Given the description of an element on the screen output the (x, y) to click on. 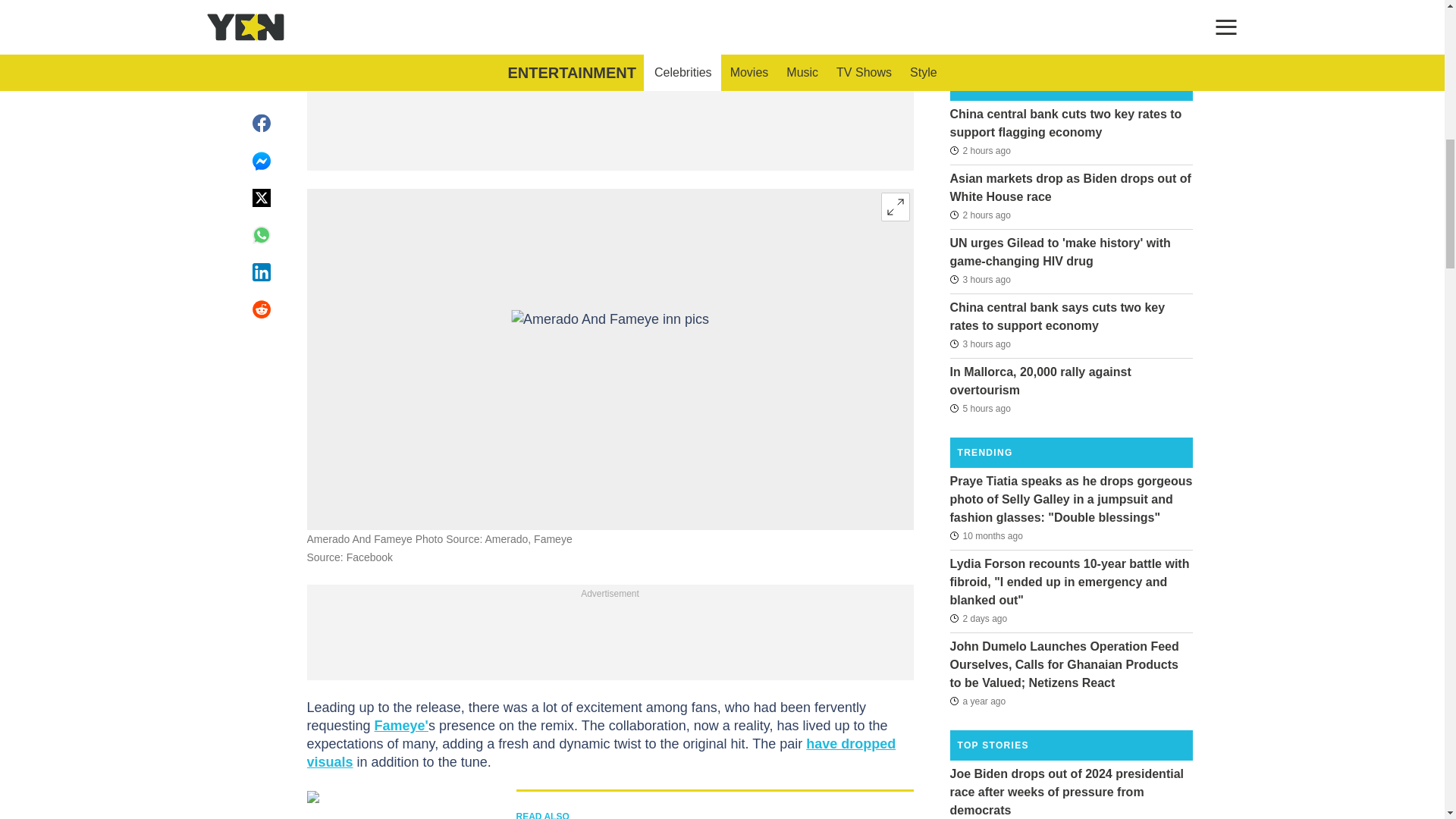
2024-07-22T02:41:03Z (979, 215)
2023-08-28T10:57:01Z (985, 535)
2024-07-22T03:09:03Z (979, 149)
Expand image (895, 206)
2022-11-08T09:18:56Z (977, 700)
2024-07-22T01:49:03Z (979, 343)
2024-07-22T00:04:03Z (979, 407)
2024-07-19T14:30:50Z (978, 618)
Amerado And Fameye inn pics (610, 358)
2024-07-22T02:09:03Z (979, 279)
